Given the description of an element on the screen output the (x, y) to click on. 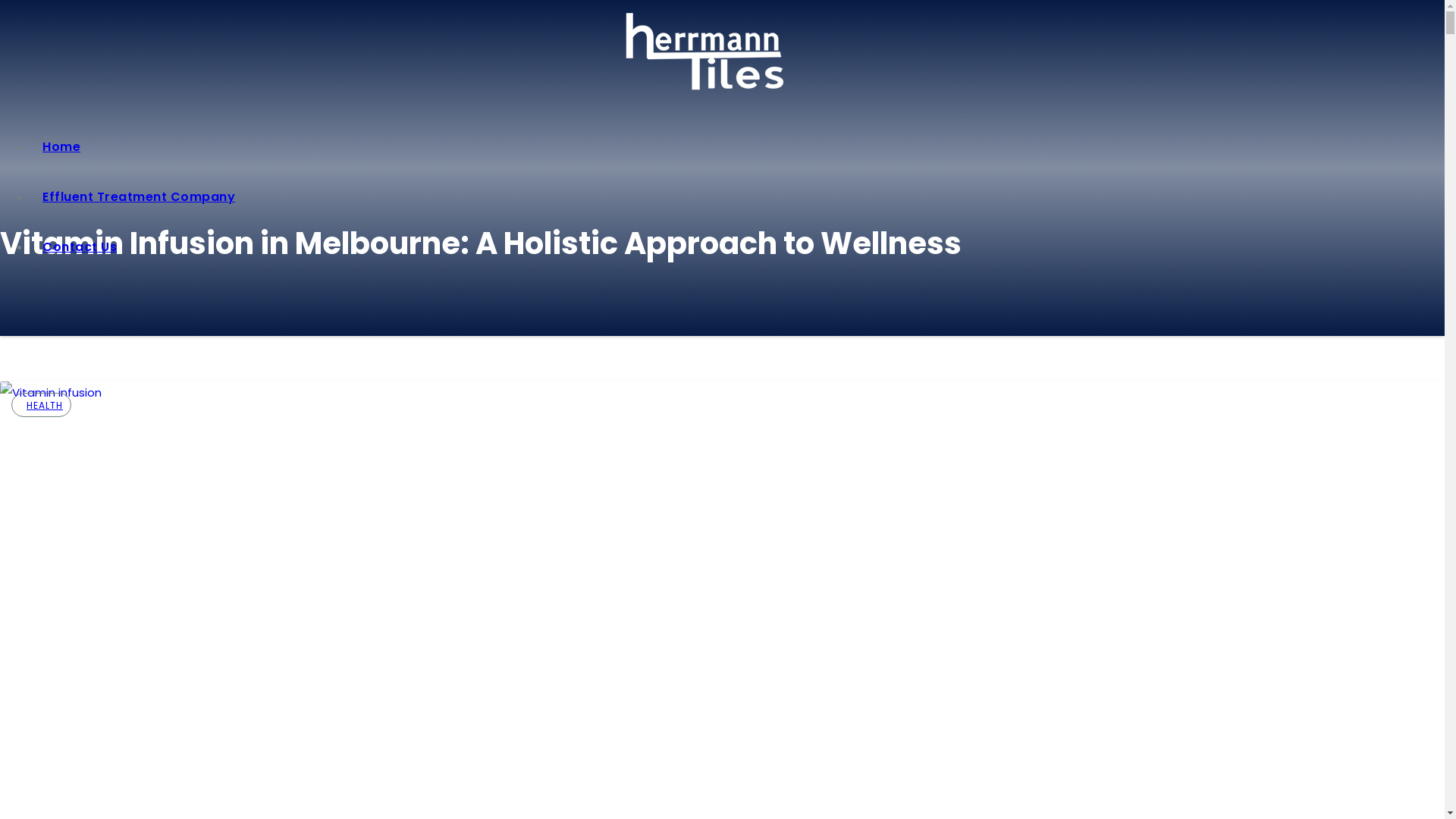
HEALTH Element type: text (42, 404)
Effluent Treatment Company Element type: text (737, 197)
Contact Us Element type: text (737, 247)
Home Element type: text (737, 147)
